Given the description of an element on the screen output the (x, y) to click on. 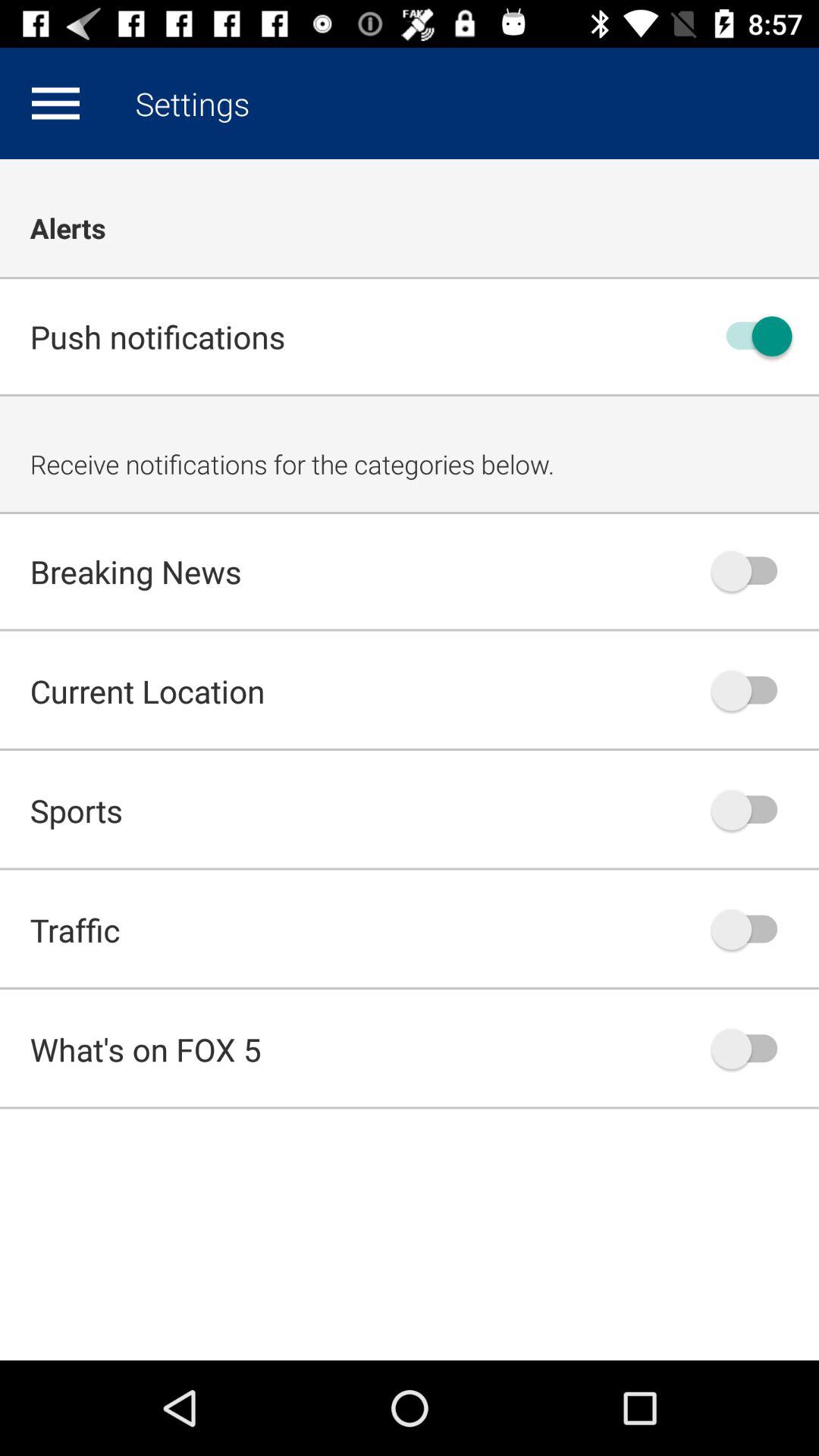
set traffic on (751, 929)
